Given the description of an element on the screen output the (x, y) to click on. 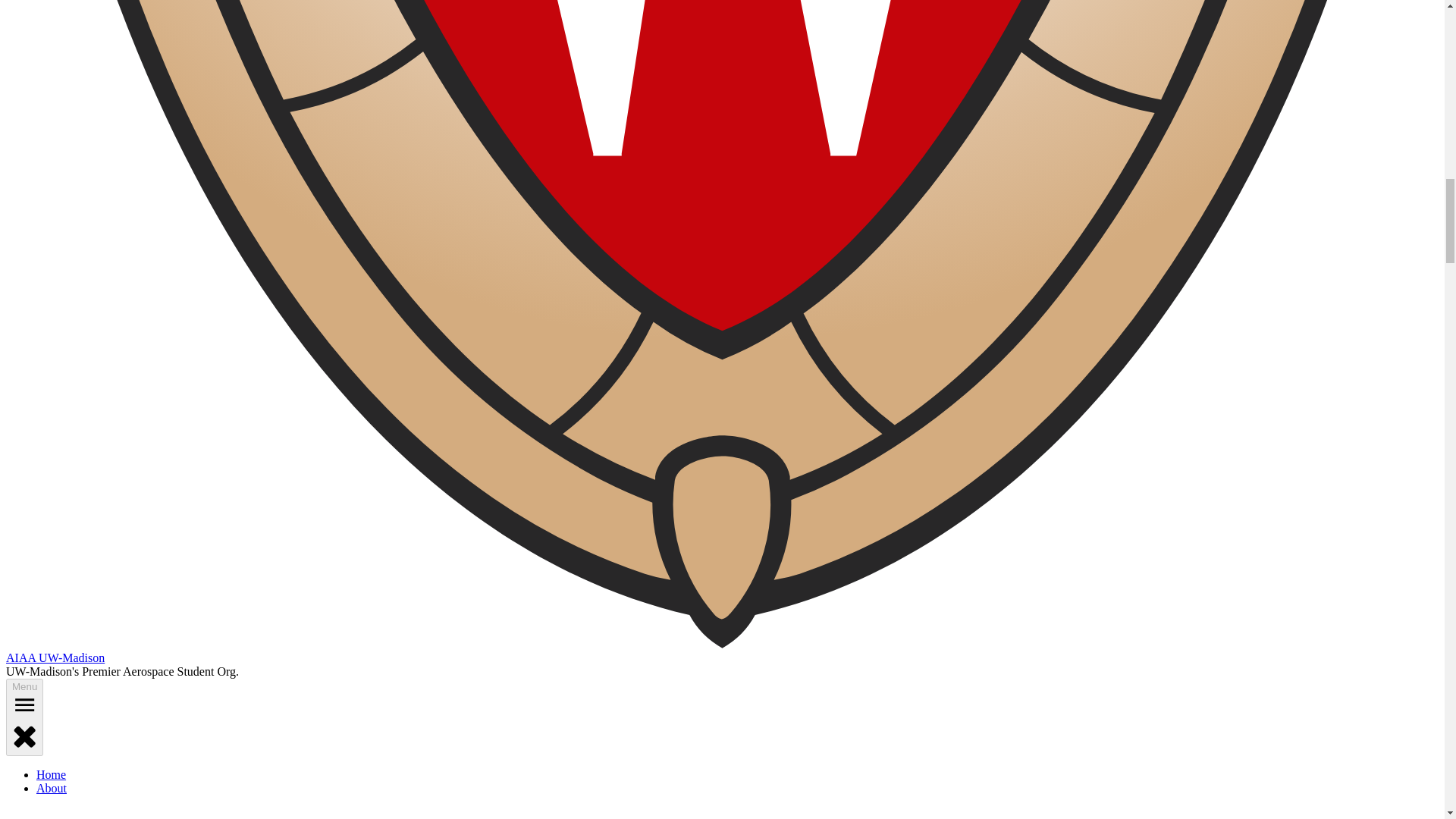
Home (50, 774)
open menu (24, 704)
AIAA UW-Madison (54, 657)
